Given the description of an element on the screen output the (x, y) to click on. 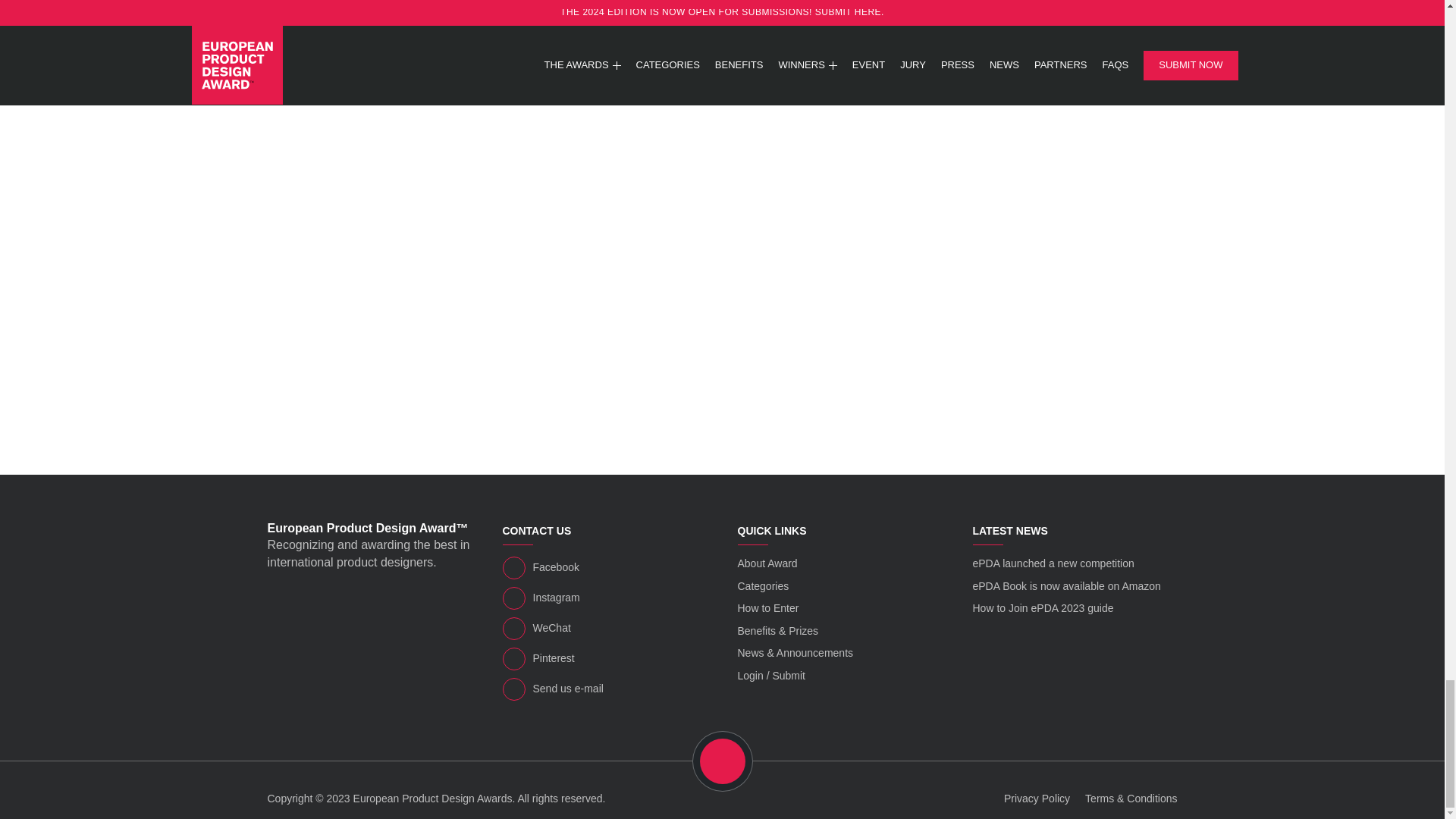
How to Enter (766, 607)
Categories (762, 585)
About Award (766, 563)
ePDA launched a new competition (1053, 563)
Privacy Policy (1037, 798)
How to Join ePDA 2023 guide (1042, 607)
Facebook (604, 567)
ePDA Book is now available on Amazon (1066, 585)
Pinterest (604, 658)
Send us e-mail (604, 689)
Instagram (604, 598)
WeChat (604, 628)
